Given the description of an element on the screen output the (x, y) to click on. 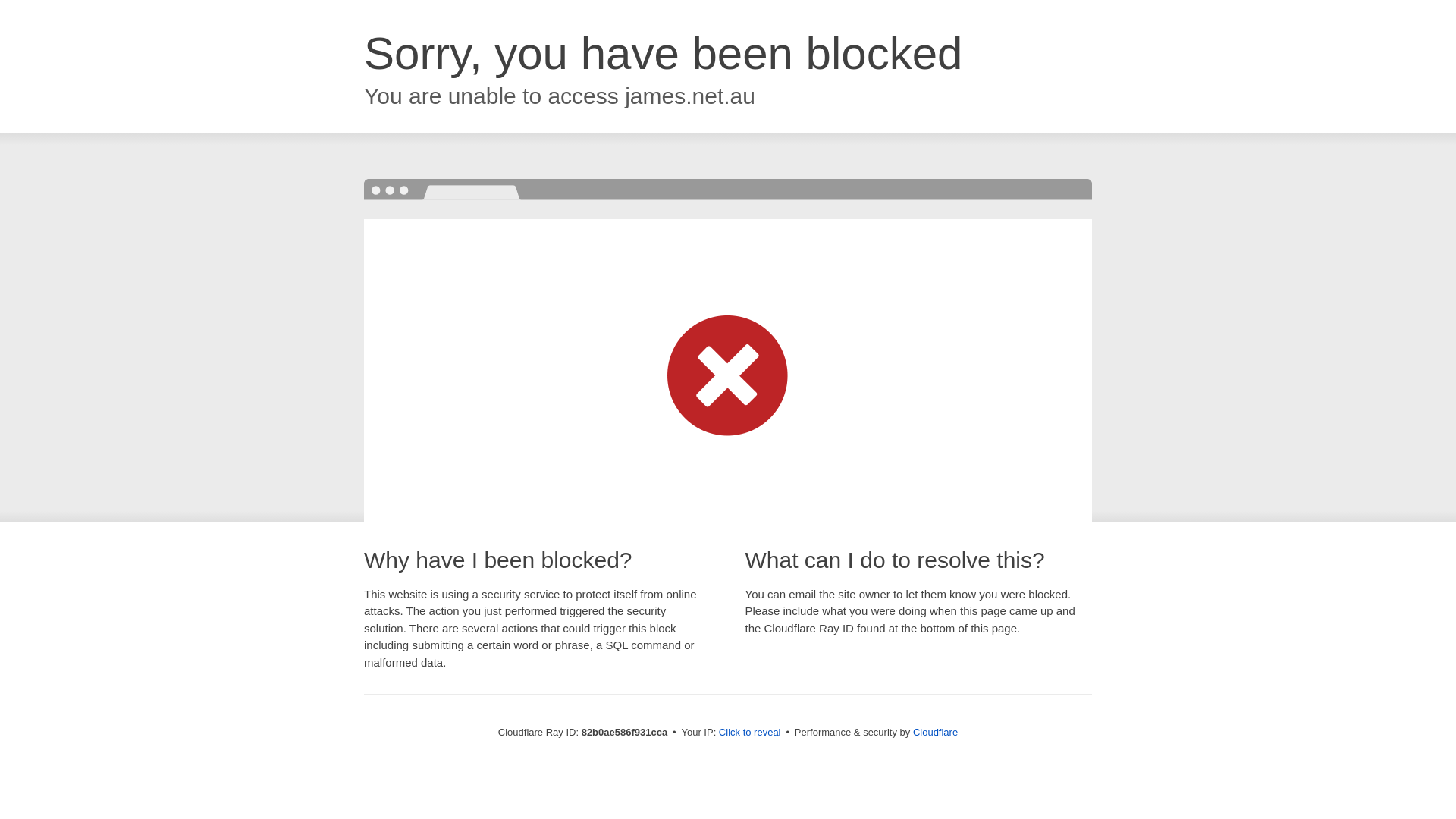
Cloudflare Element type: text (935, 731)
Click to reveal Element type: text (749, 732)
